Given the description of an element on the screen output the (x, y) to click on. 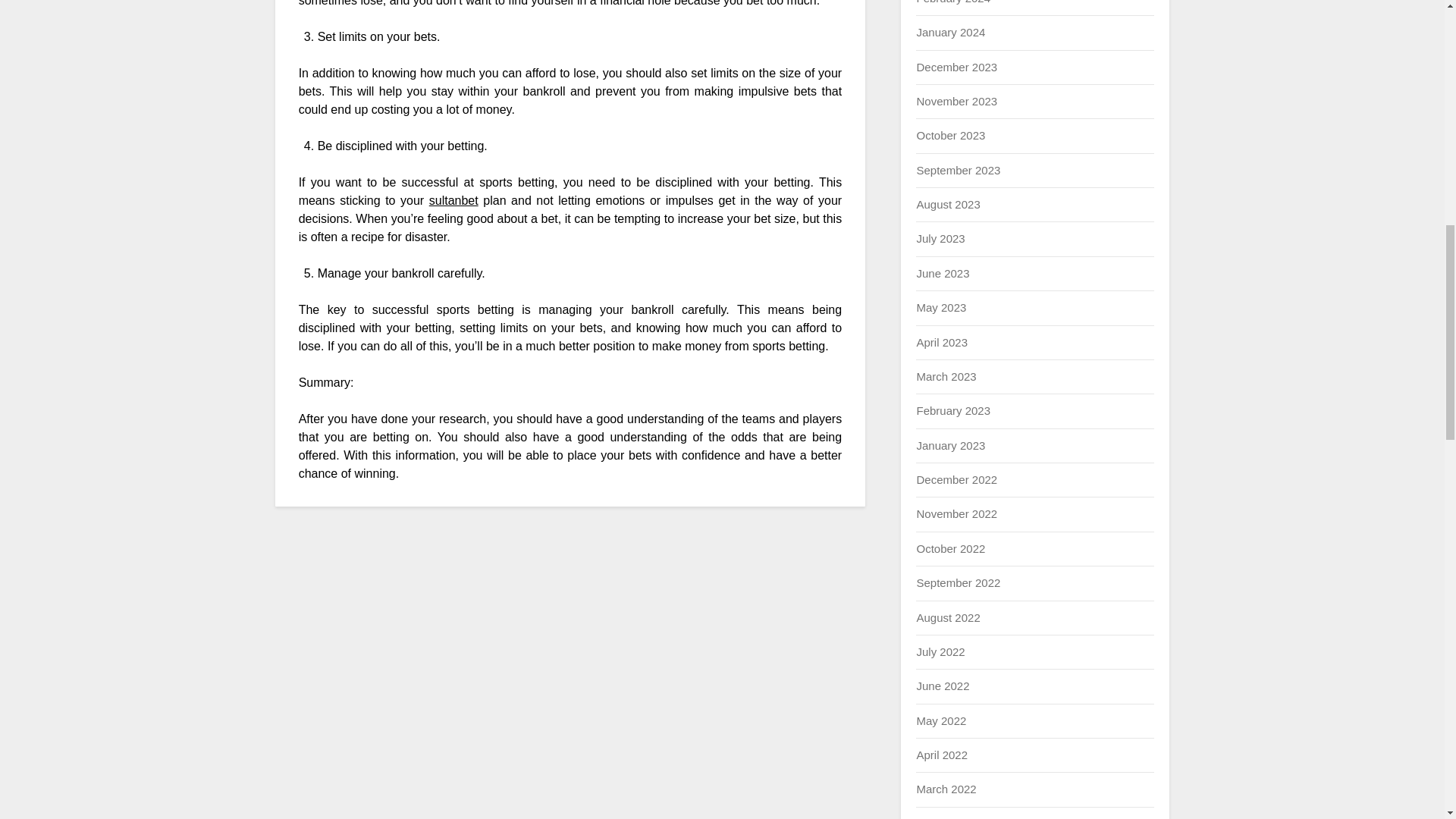
August 2023 (947, 204)
January 2023 (950, 445)
February 2023 (952, 410)
December 2022 (956, 479)
June 2022 (942, 685)
September 2023 (957, 169)
July 2022 (939, 651)
September 2022 (957, 582)
May 2022 (940, 720)
March 2023 (945, 376)
